Given the description of an element on the screen output the (x, y) to click on. 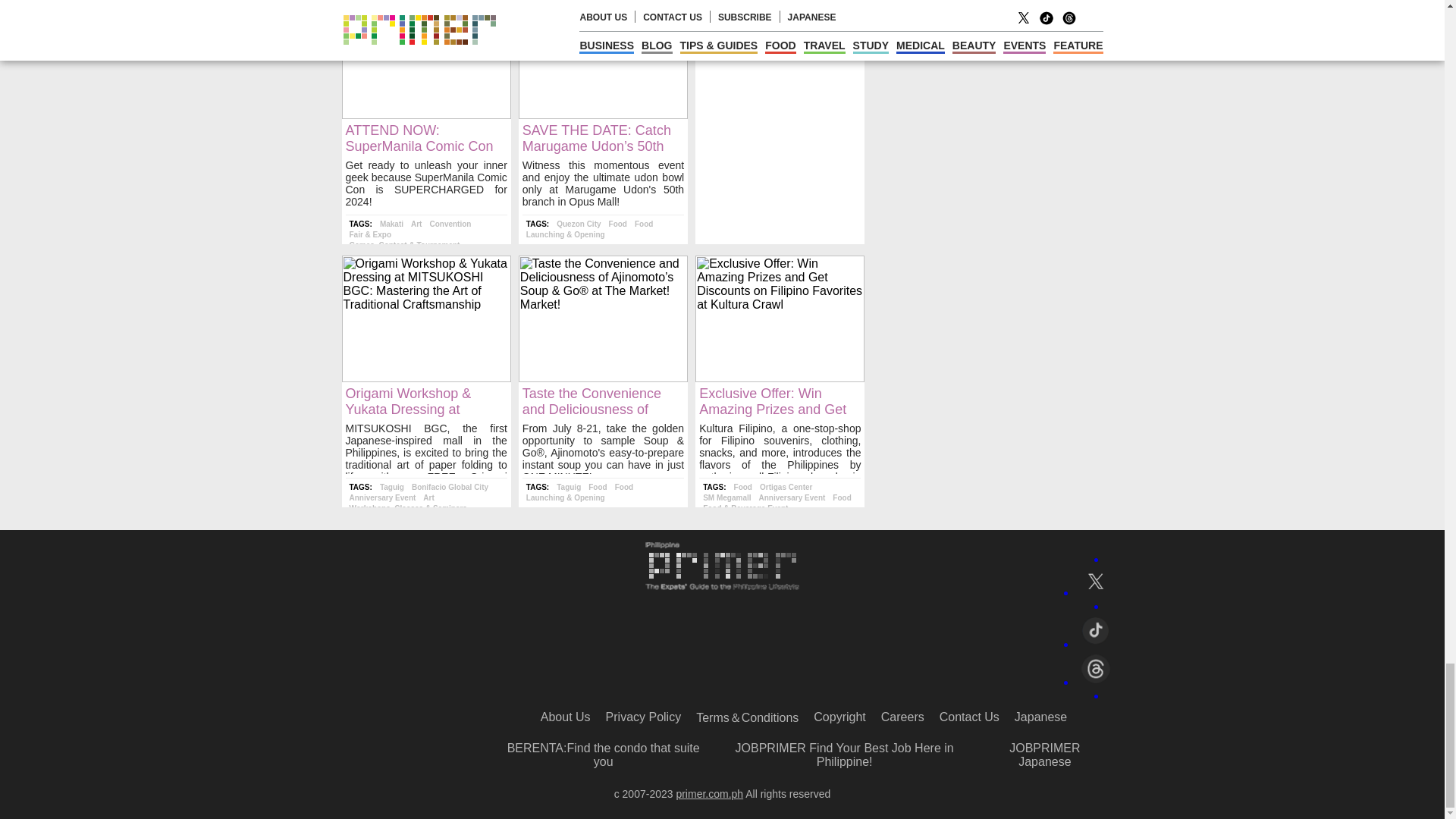
Art (416, 224)
Makati (391, 224)
Convention (449, 224)
